Given the description of an element on the screen output the (x, y) to click on. 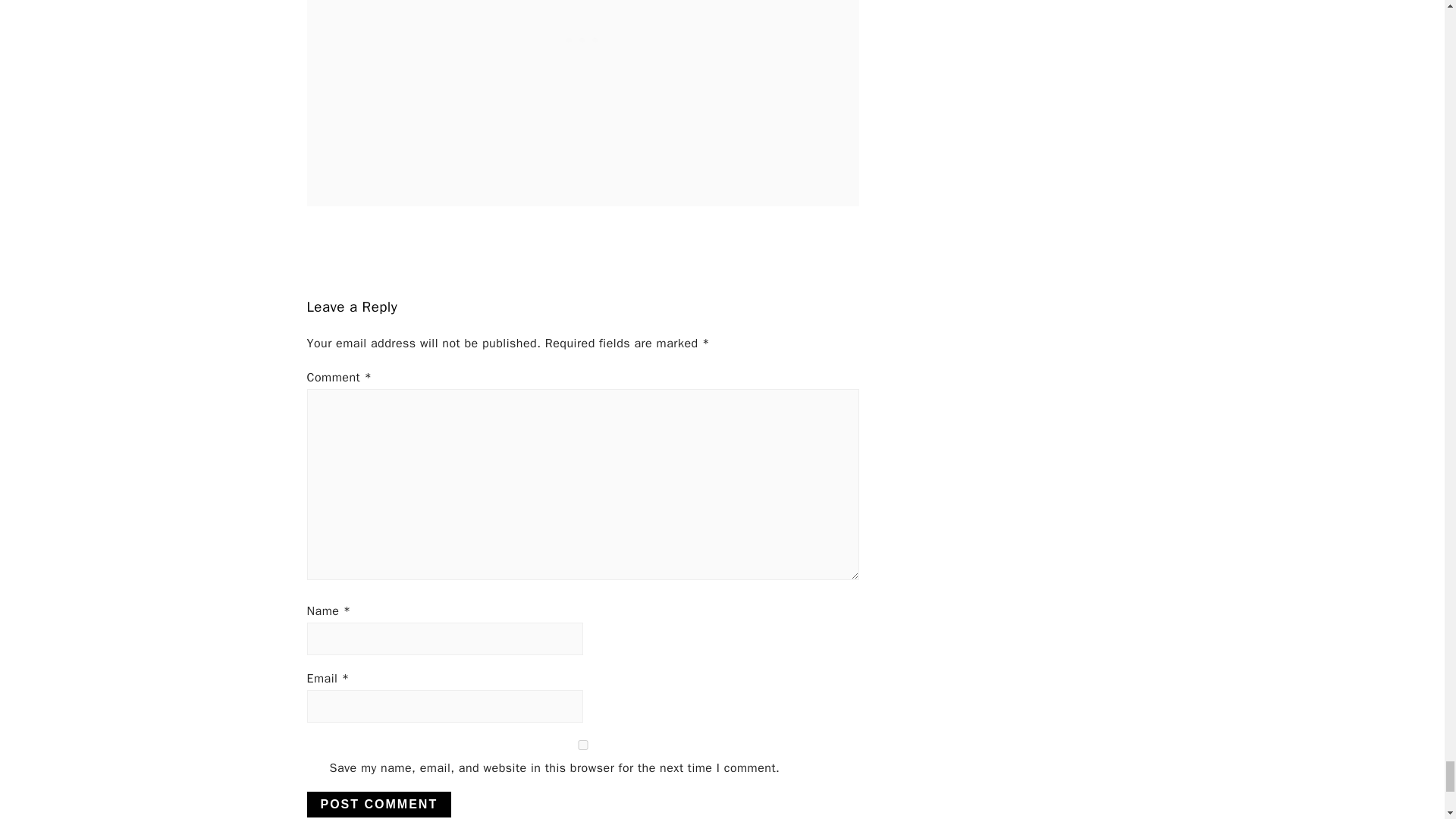
Post Comment (378, 804)
yes (582, 745)
